Given the description of an element on the screen output the (x, y) to click on. 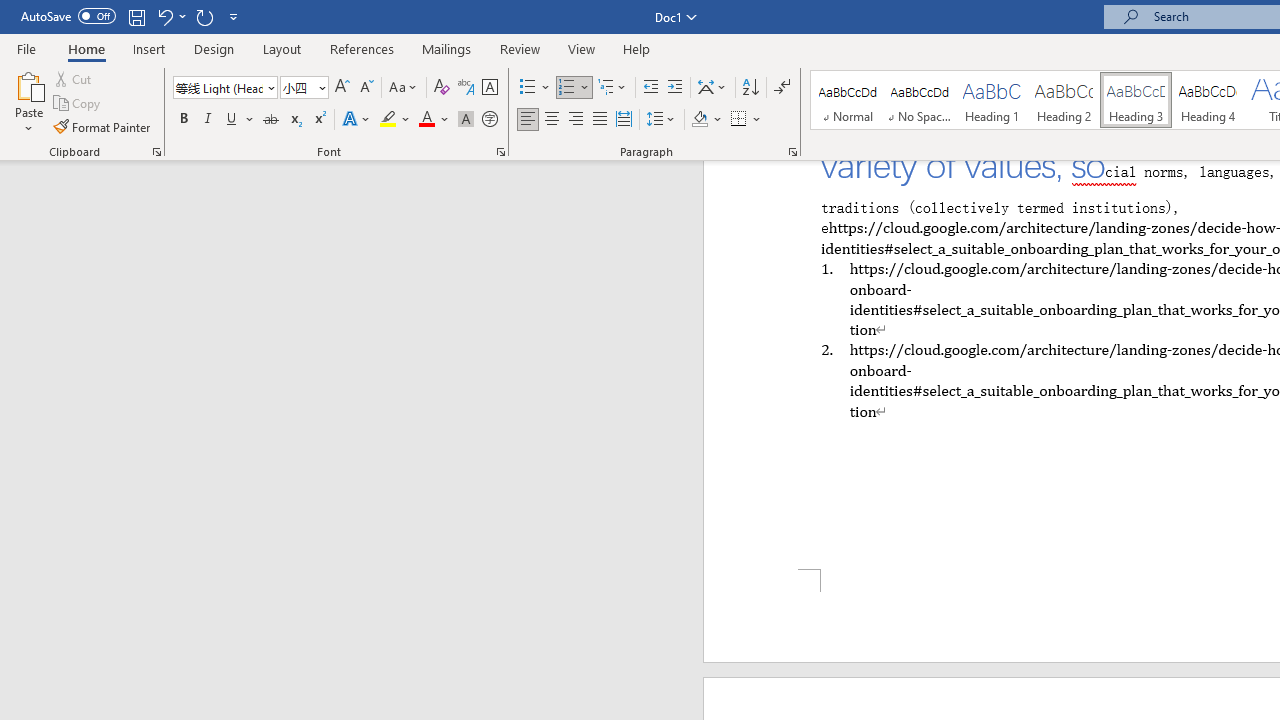
Paragraph... (792, 151)
Copy (78, 103)
Shrink Font (365, 87)
Subscript (294, 119)
Shading (706, 119)
Character Border (489, 87)
Clear Formatting (442, 87)
